Given the description of an element on the screen output the (x, y) to click on. 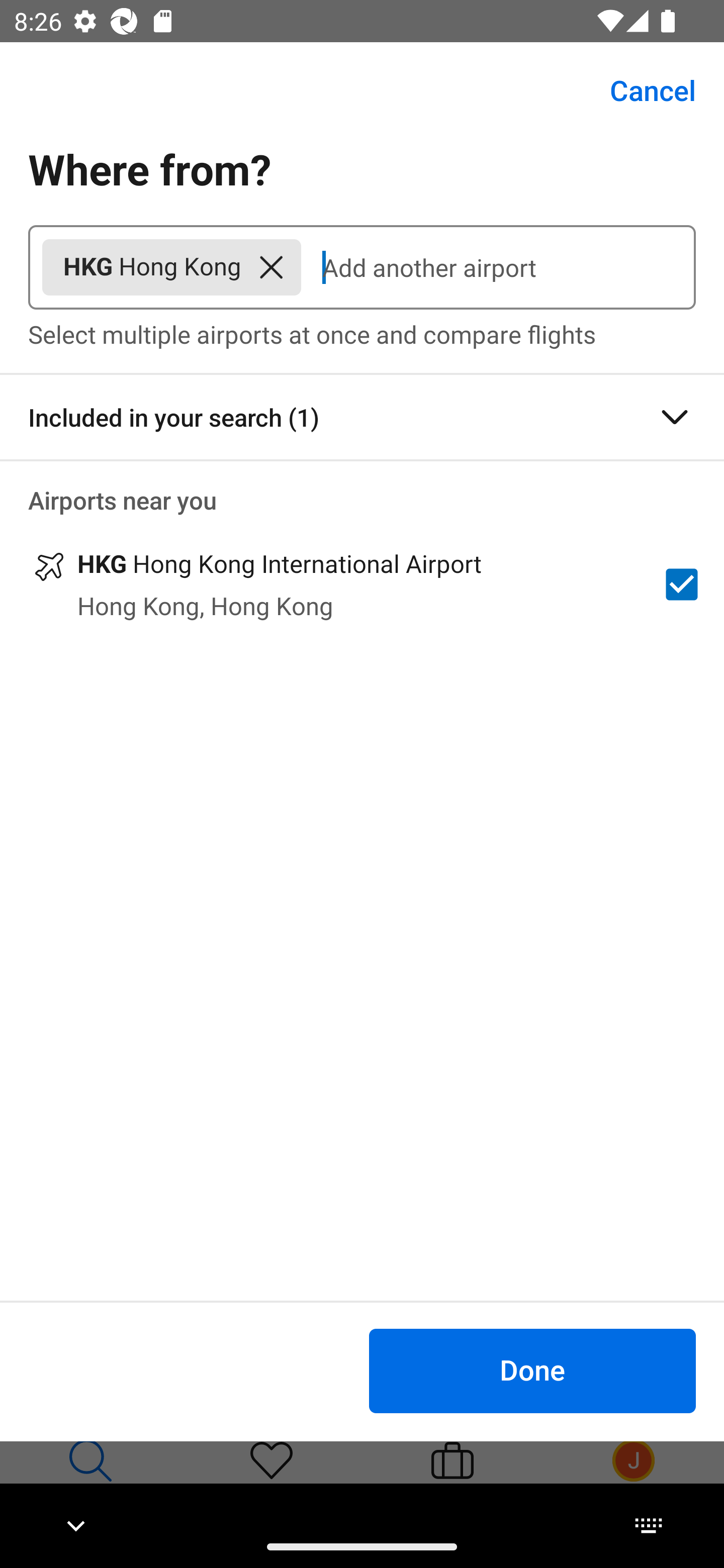
Cancel (641, 90)
Add another airport (498, 266)
HKG Hong Kong Remove HKG Hong Kong (171, 266)
Included in your search (1) (362, 416)
Done (532, 1370)
